Given the description of an element on the screen output the (x, y) to click on. 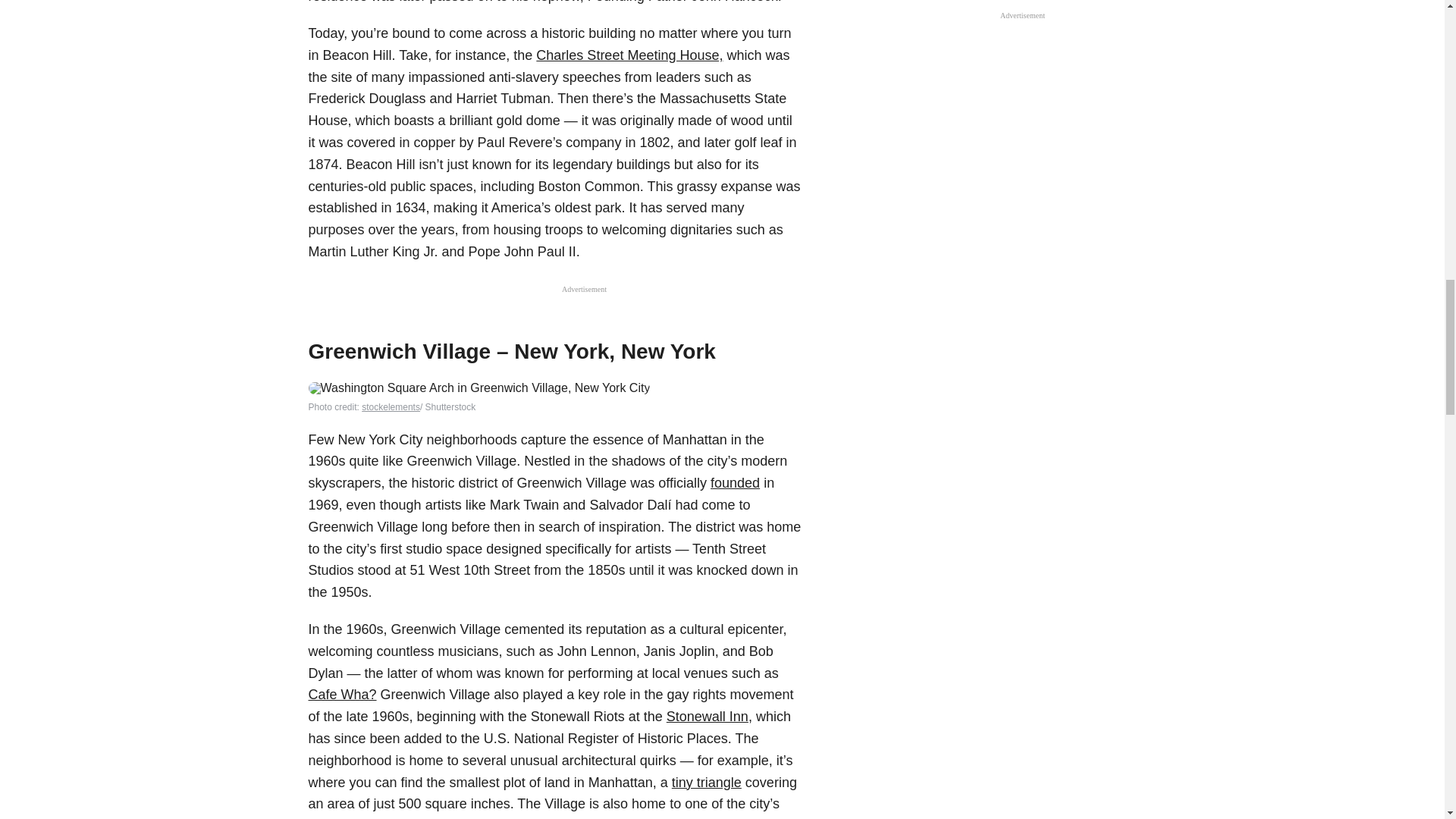
stockelements (390, 407)
Cafe Wha? (341, 694)
tiny triangle (706, 782)
Stonewall Inn (707, 716)
founded (735, 482)
Charles Street Meeting House, (628, 55)
